Given the description of an element on the screen output the (x, y) to click on. 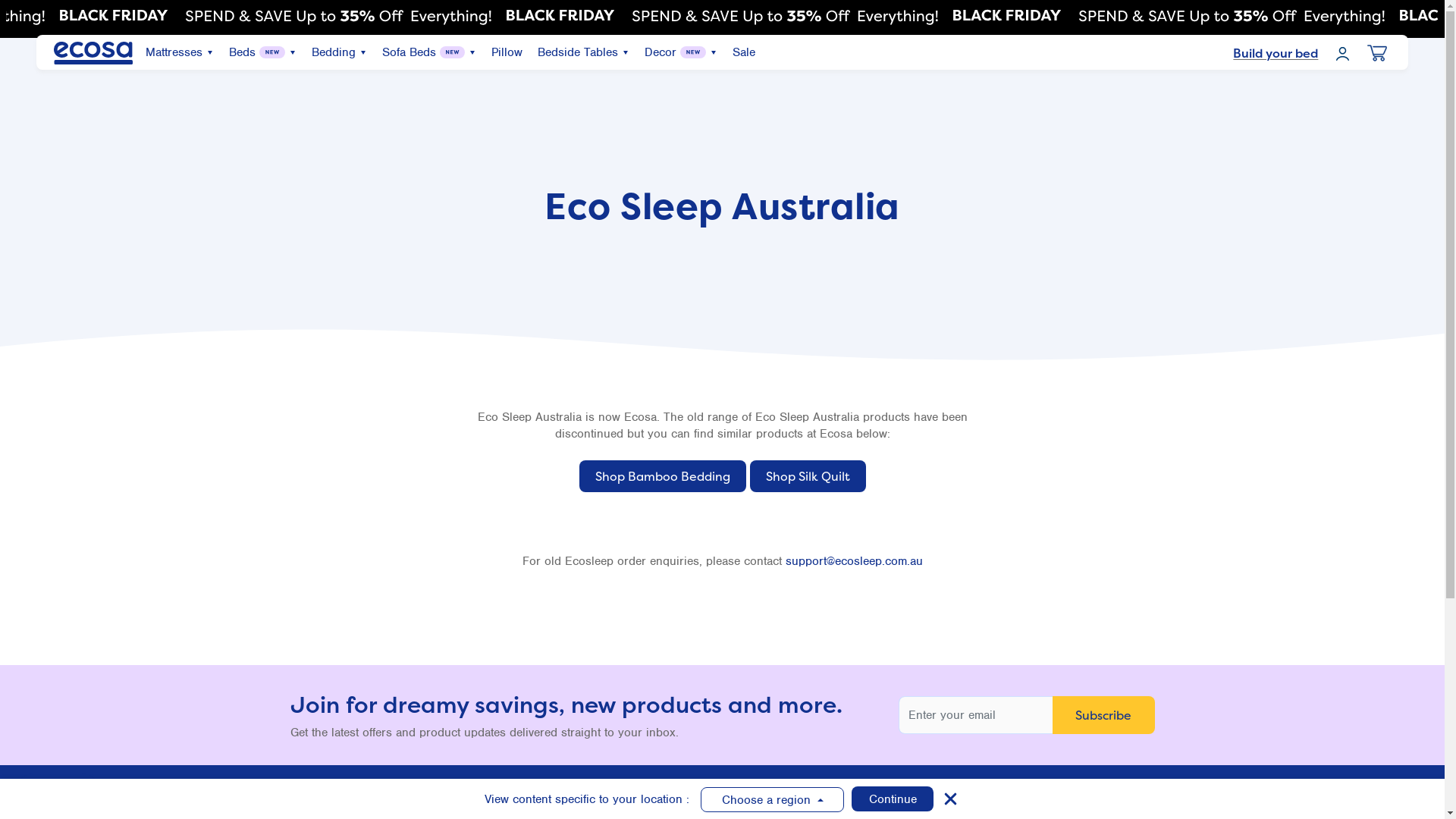
Continue Element type: text (892, 797)
Subscribe Element type: text (1103, 715)
Bedding Element type: text (332, 51)
Build your bed Element type: text (1275, 52)
Log in to your customer account Element type: hover (1342, 52)
Beds Element type: text (242, 51)
Pillow Element type: text (506, 51)
Sofa Beds Element type: text (409, 51)
Shop Silk Quilt Element type: text (807, 476)
Shop Bamboo Bedding Element type: text (662, 476)
Sale Element type: text (743, 51)
Opens a widget where you can chat to one of our agents Element type: hover (57, 792)
support@ecosleep.com.au Element type: text (853, 560)
Choose a region Element type: text (772, 799)
Mattresses Element type: text (173, 51)
